Given the description of an element on the screen output the (x, y) to click on. 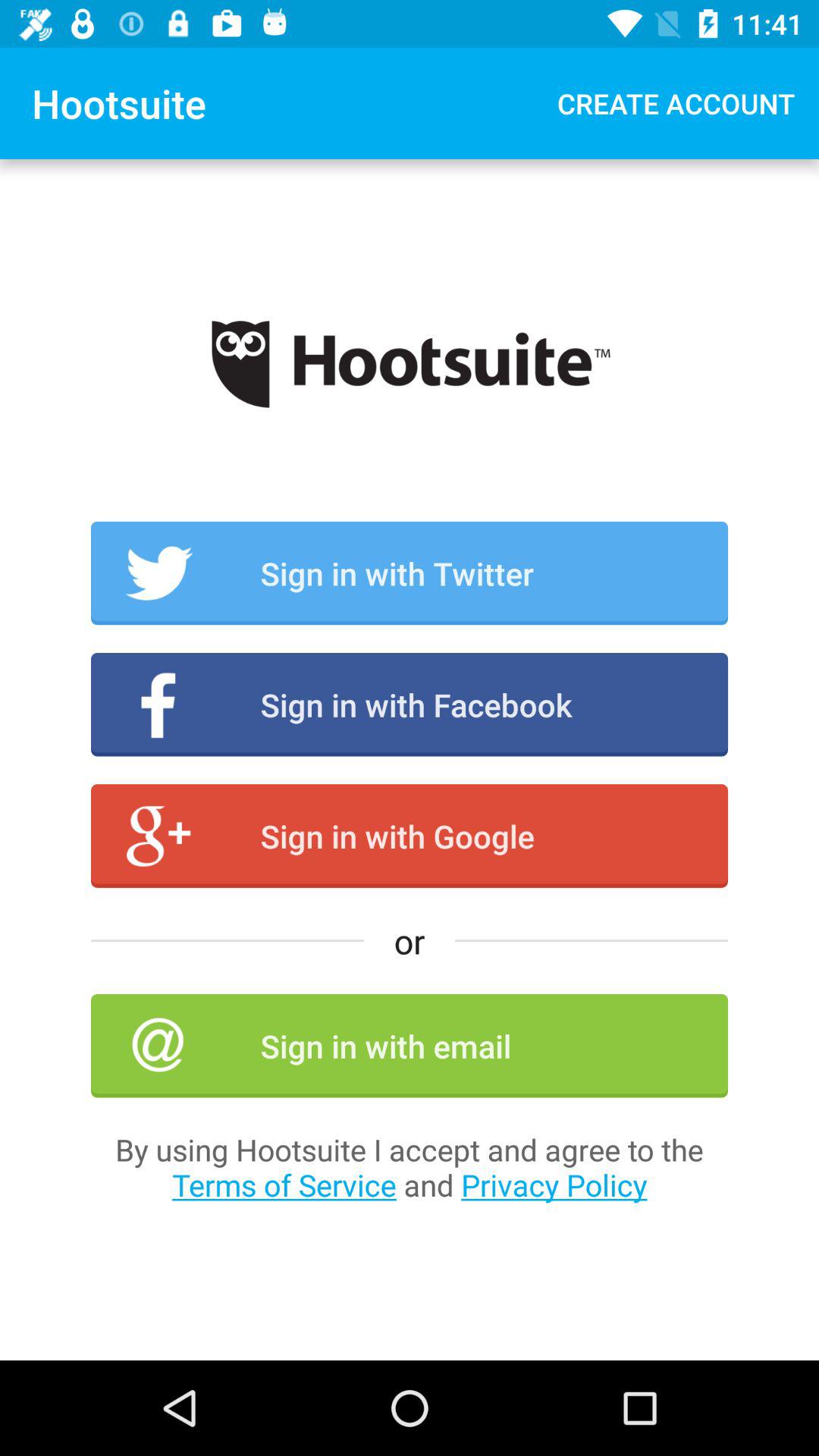
swipe until create account (676, 103)
